Given the description of an element on the screen output the (x, y) to click on. 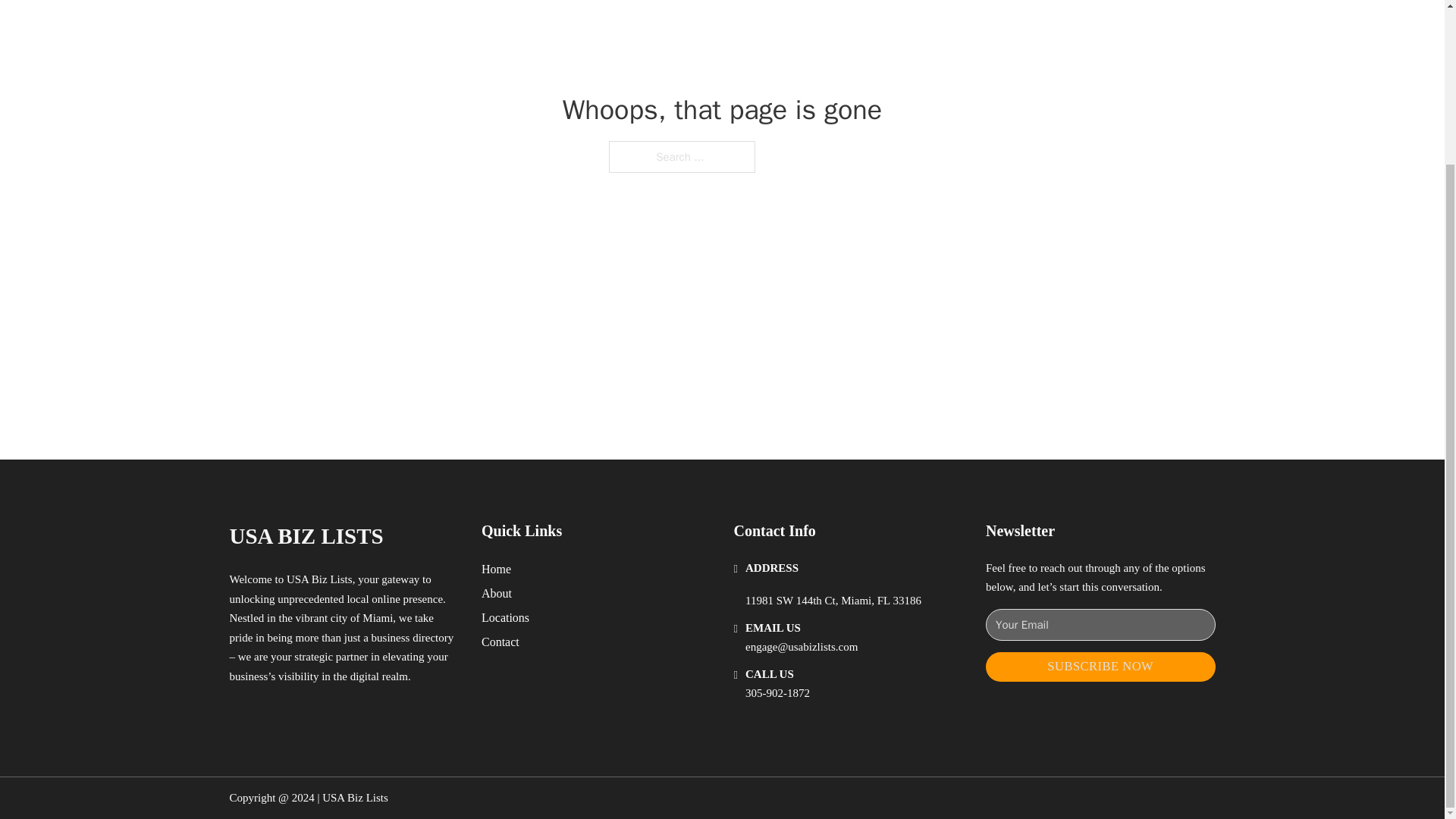
Contact (500, 641)
Home (496, 568)
Locations (505, 617)
305-902-1872 (777, 693)
SUBSCRIBE NOW (1100, 666)
About (496, 593)
USA BIZ LISTS (305, 536)
